Given the description of an element on the screen output the (x, y) to click on. 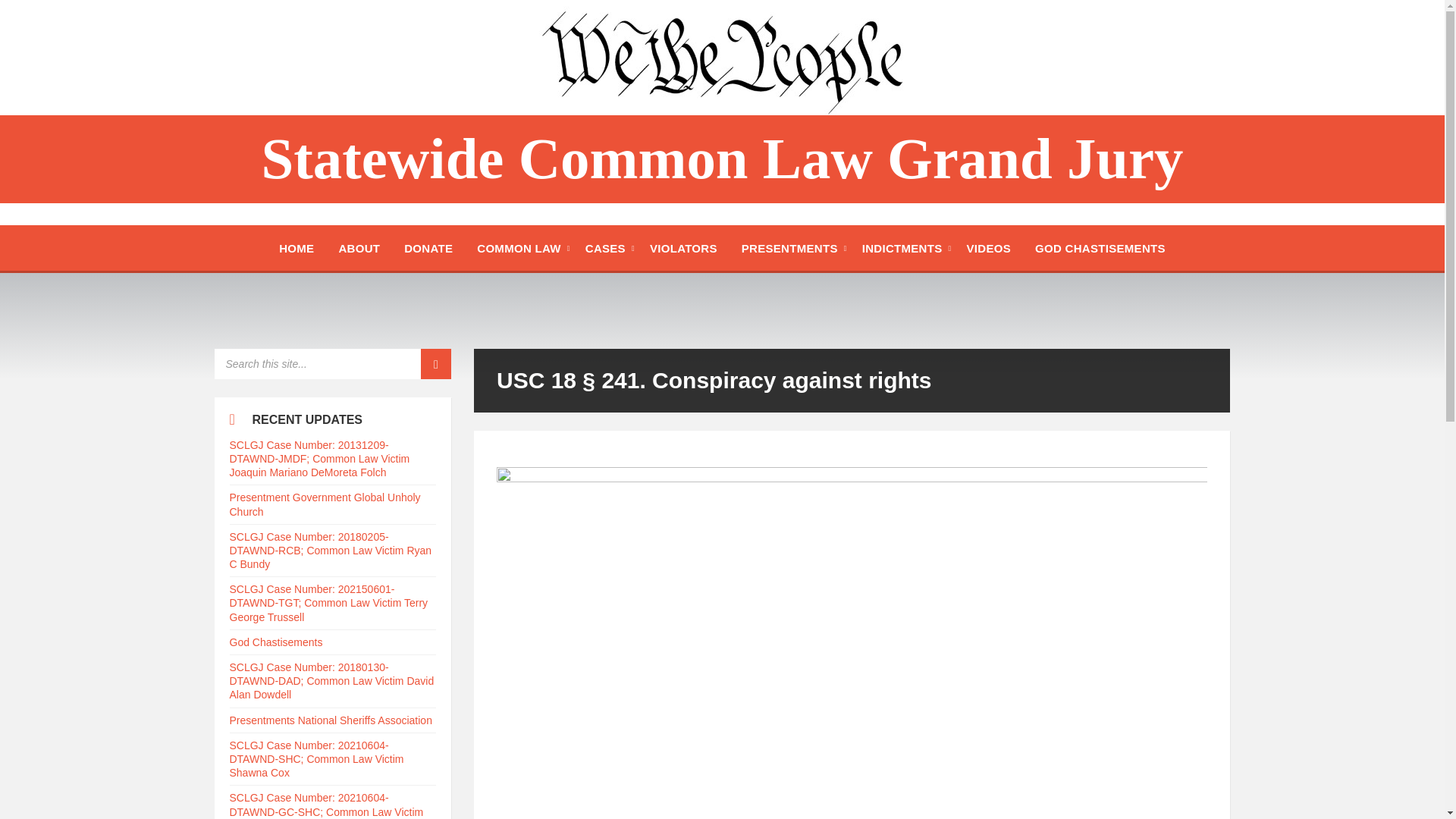
HOME (296, 247)
COMMON LAW (518, 247)
ABOUT (358, 247)
Submit search (435, 363)
DONATE (427, 247)
CASES (605, 247)
